Given the description of an element on the screen output the (x, y) to click on. 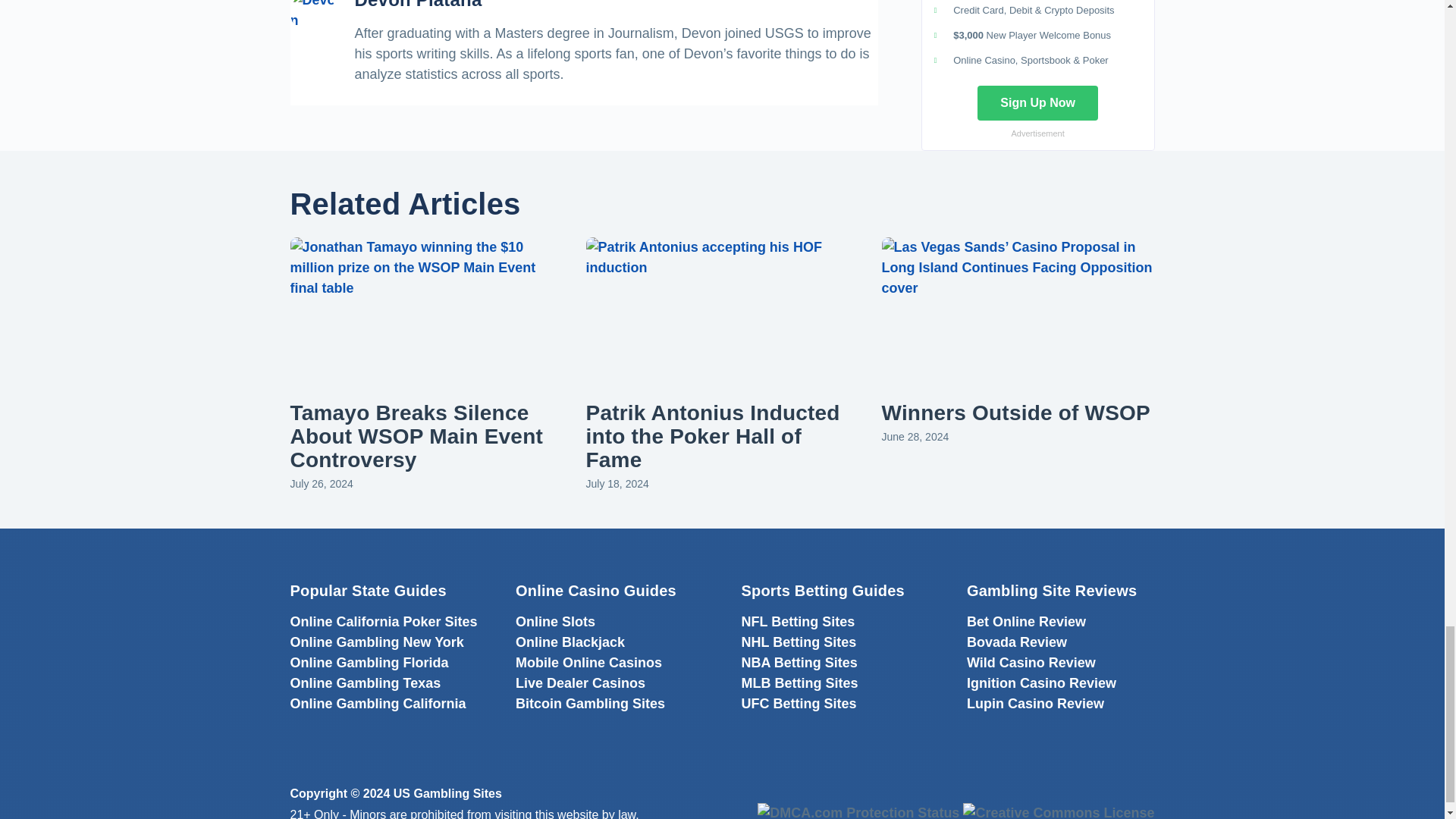
Online Gambling Florida (368, 662)
Online Gambling New York (376, 642)
Tamayo Breaks Silence About WSOP Main Event Controversy (415, 436)
Online California Poker Sites (383, 621)
Online Gambling Texas (365, 683)
Online Gambling California (377, 703)
Winners Outside of WSOP (1015, 413)
Patrik Antonius Inducted into the Poker Hall of Fame (712, 436)
